Given the description of an element on the screen output the (x, y) to click on. 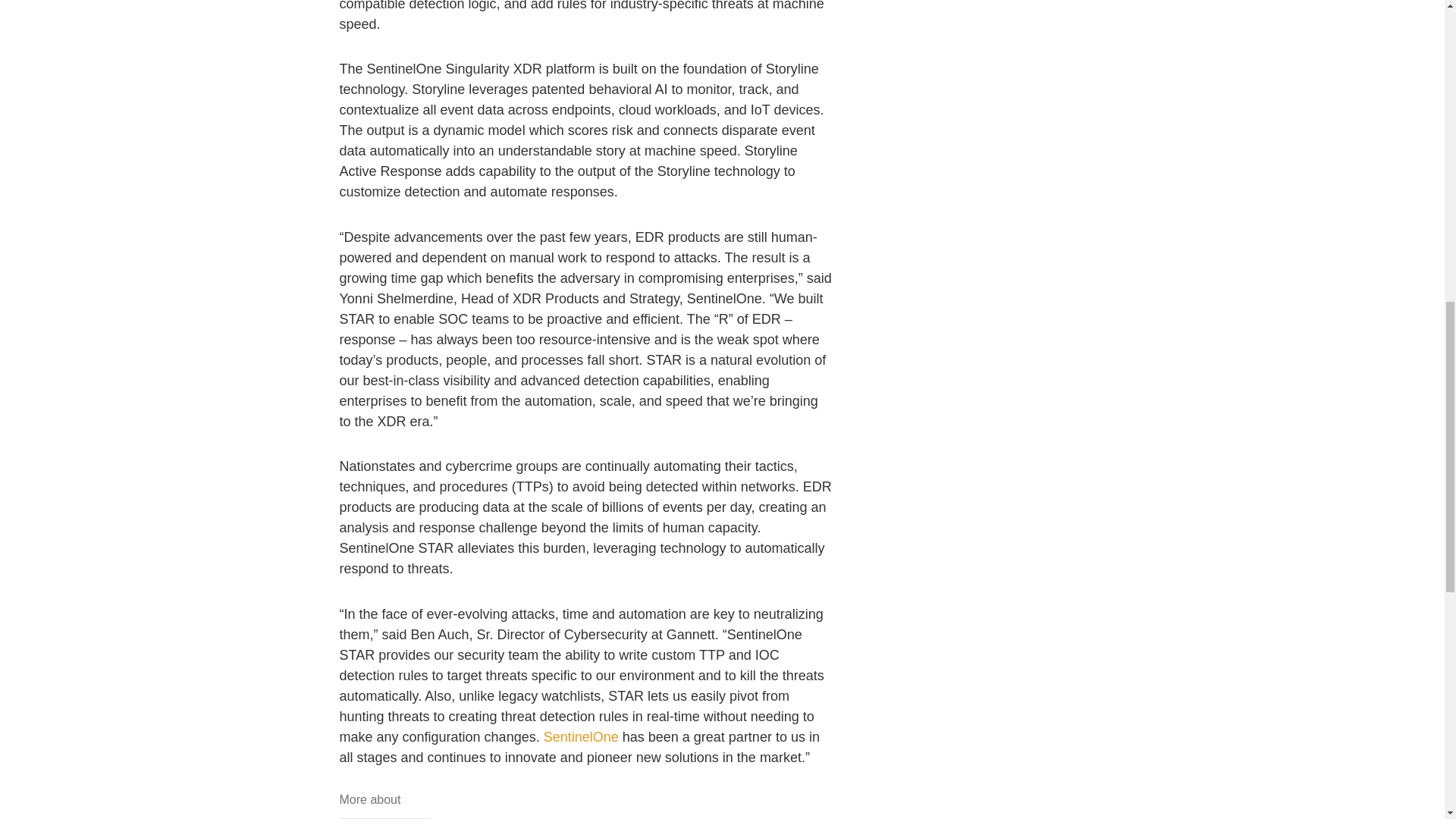
SentinelOne (580, 736)
